Given the description of an element on the screen output the (x, y) to click on. 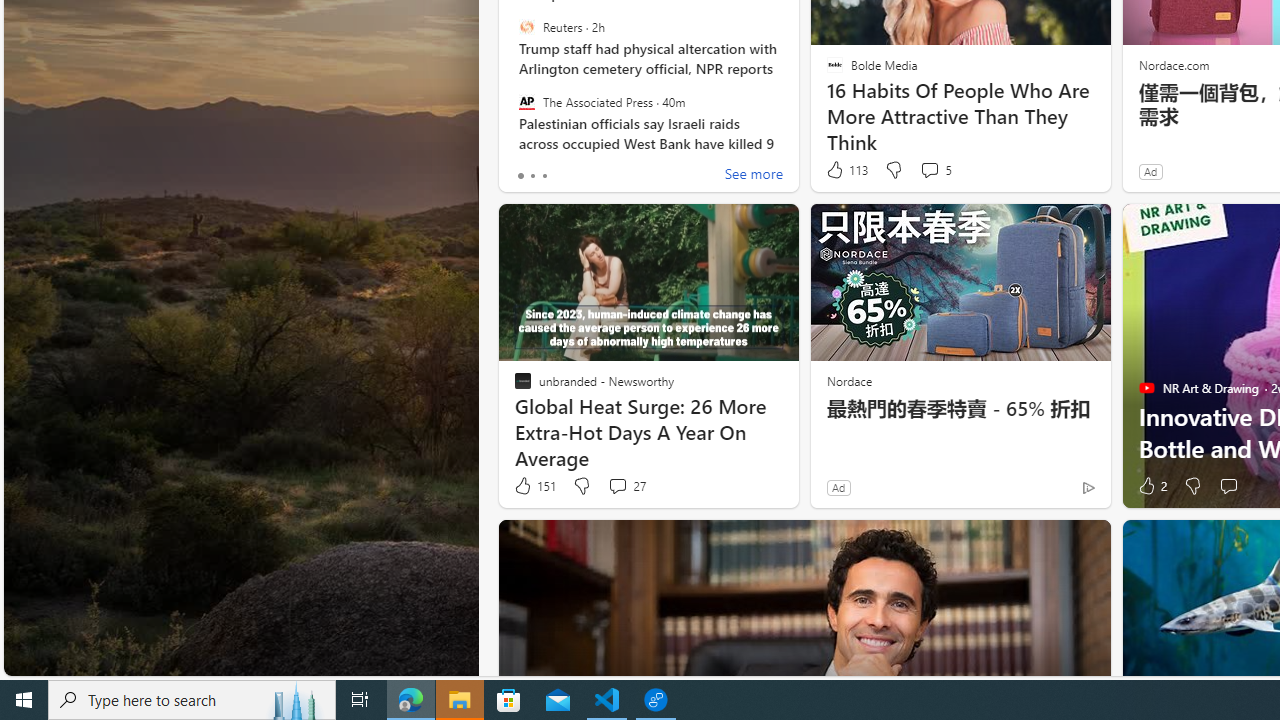
2 Like (1151, 485)
tab-0 (520, 175)
113 Like (845, 170)
tab-2 (543, 175)
Start the conversation (1227, 485)
Dislike (1191, 485)
Nordace (848, 380)
